Given the description of an element on the screen output the (x, y) to click on. 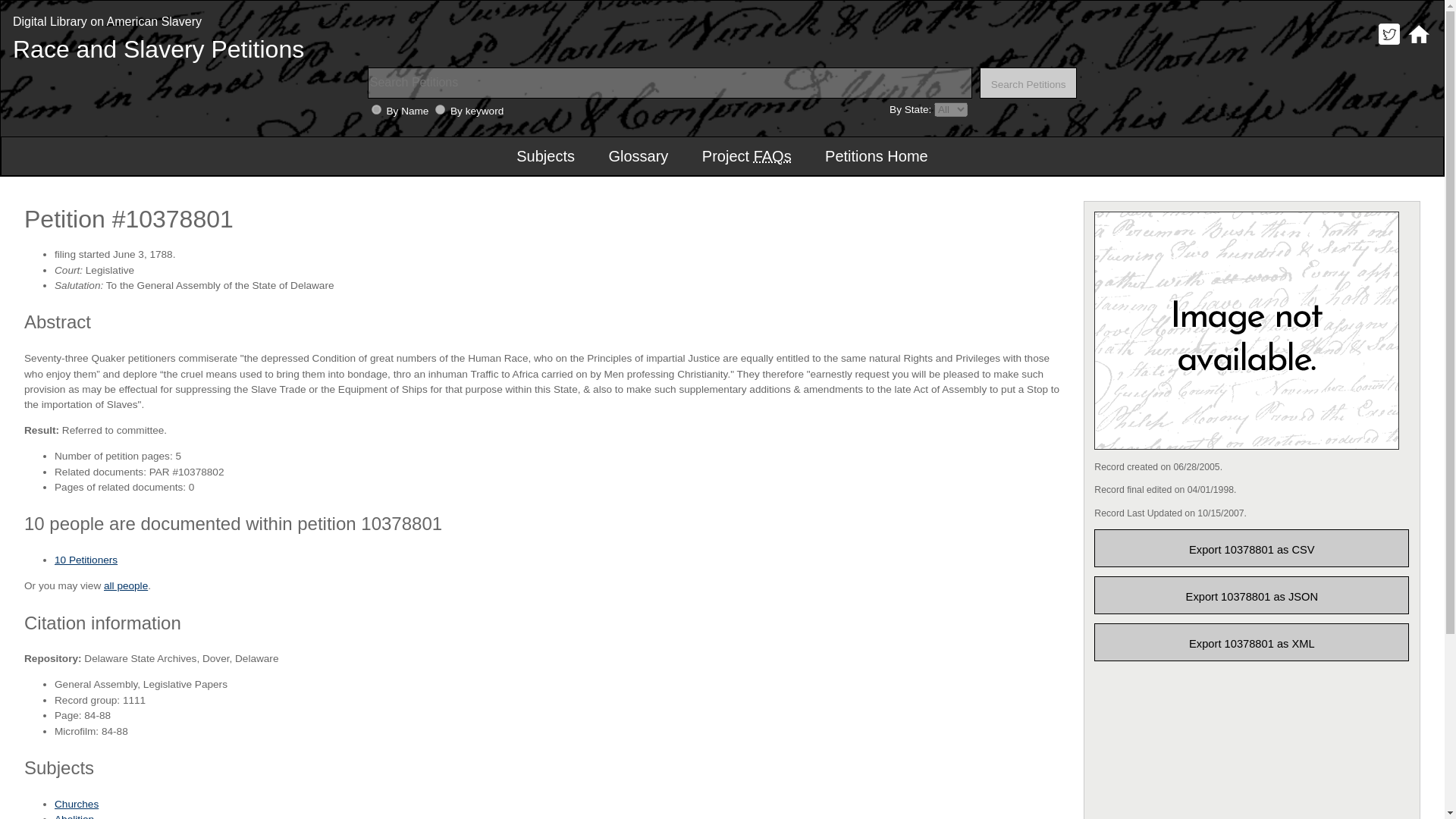
no full image (1246, 330)
all people (125, 585)
0 (376, 109)
Race and Slavery Petitions (158, 49)
Search Petitions (1028, 82)
Petitions Home (876, 156)
Glossary (637, 156)
export record information as csv (1251, 548)
Digital Library on American Slavery Home Page (1418, 43)
view 10 petitioners in this record (86, 559)
export record information as json (1251, 595)
Digital Library on American Slavery (107, 21)
export record information as xml (1251, 641)
1 (440, 109)
Digital Library on American Slavery Twitter (1389, 43)
